Given the description of an element on the screen output the (x, y) to click on. 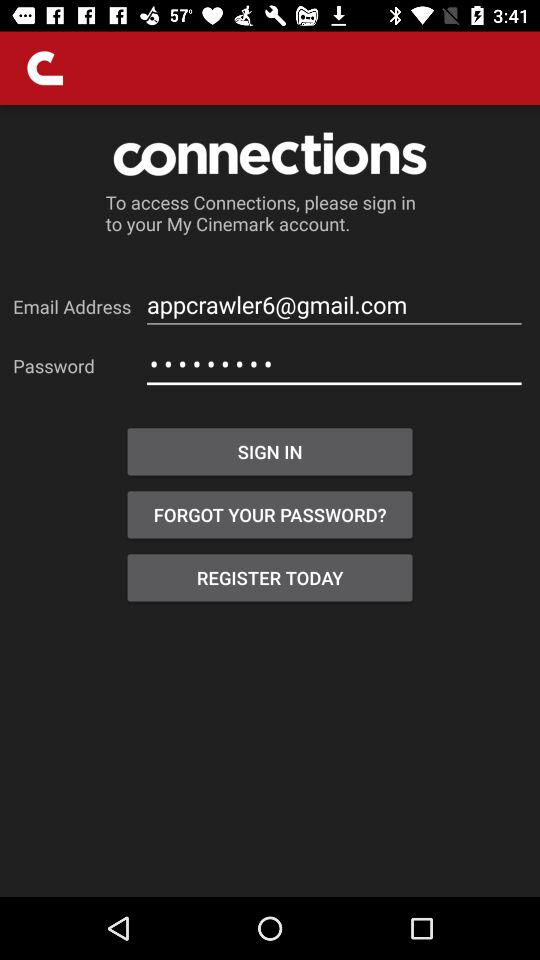
jump until the appcrawler6@gmail.com (333, 304)
